Given the description of an element on the screen output the (x, y) to click on. 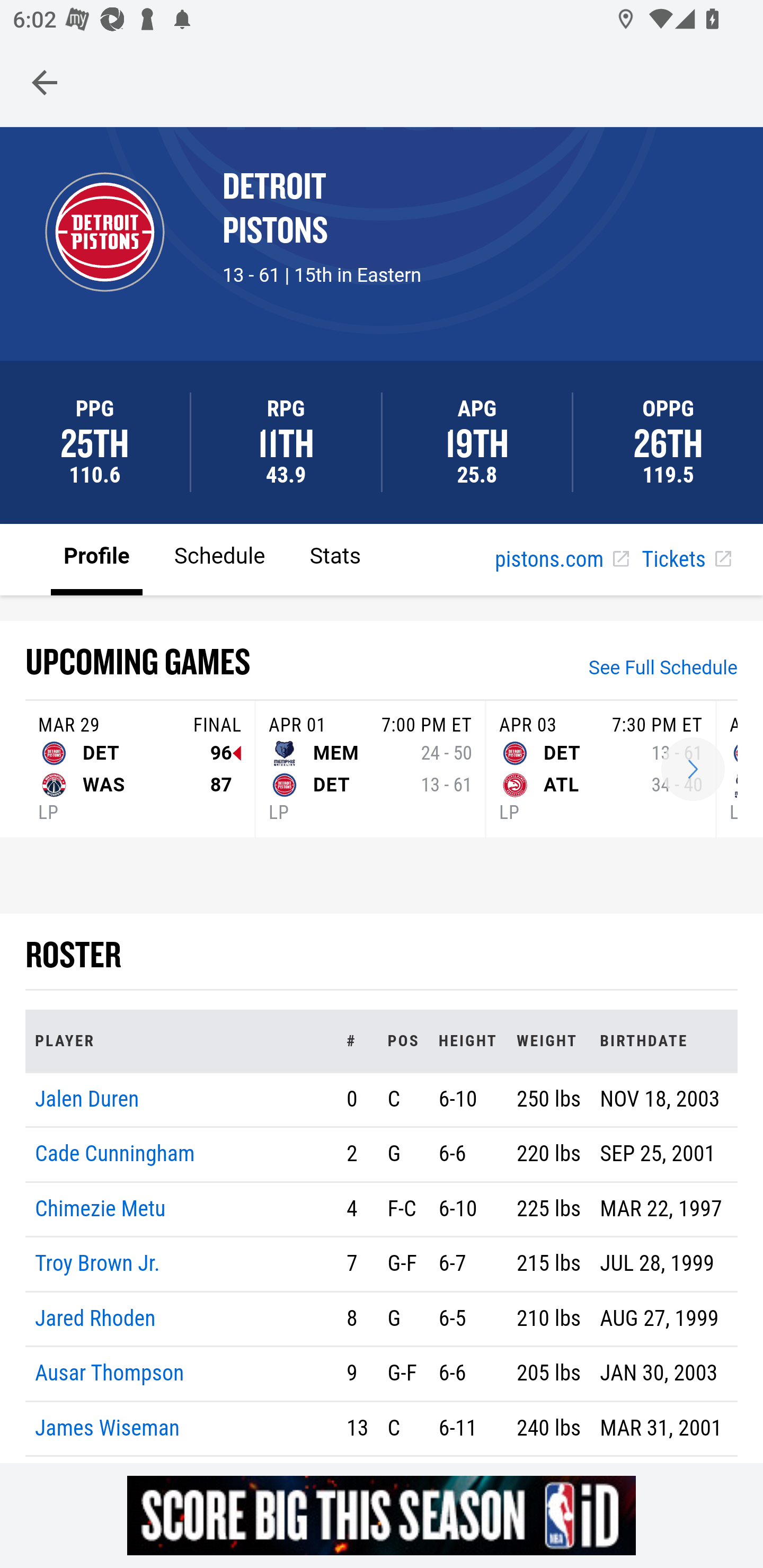
Navigate up (44, 82)
Profile (97, 558)
Schedule (219, 558)
Stats (335, 558)
pistons.com (561, 560)
Tickets (685, 560)
See Full Schedule (662, 669)
Match-up Scores (692, 769)
Jalen Duren (87, 1098)
Cade Cunningham (115, 1154)
Chimezie Metu (101, 1207)
Troy Brown Jr. (97, 1264)
Jared Rhoden (95, 1317)
Ausar Thompson (109, 1374)
James Wiseman (108, 1427)
g5nqqygr7owph (381, 1515)
